Given the description of an element on the screen output the (x, y) to click on. 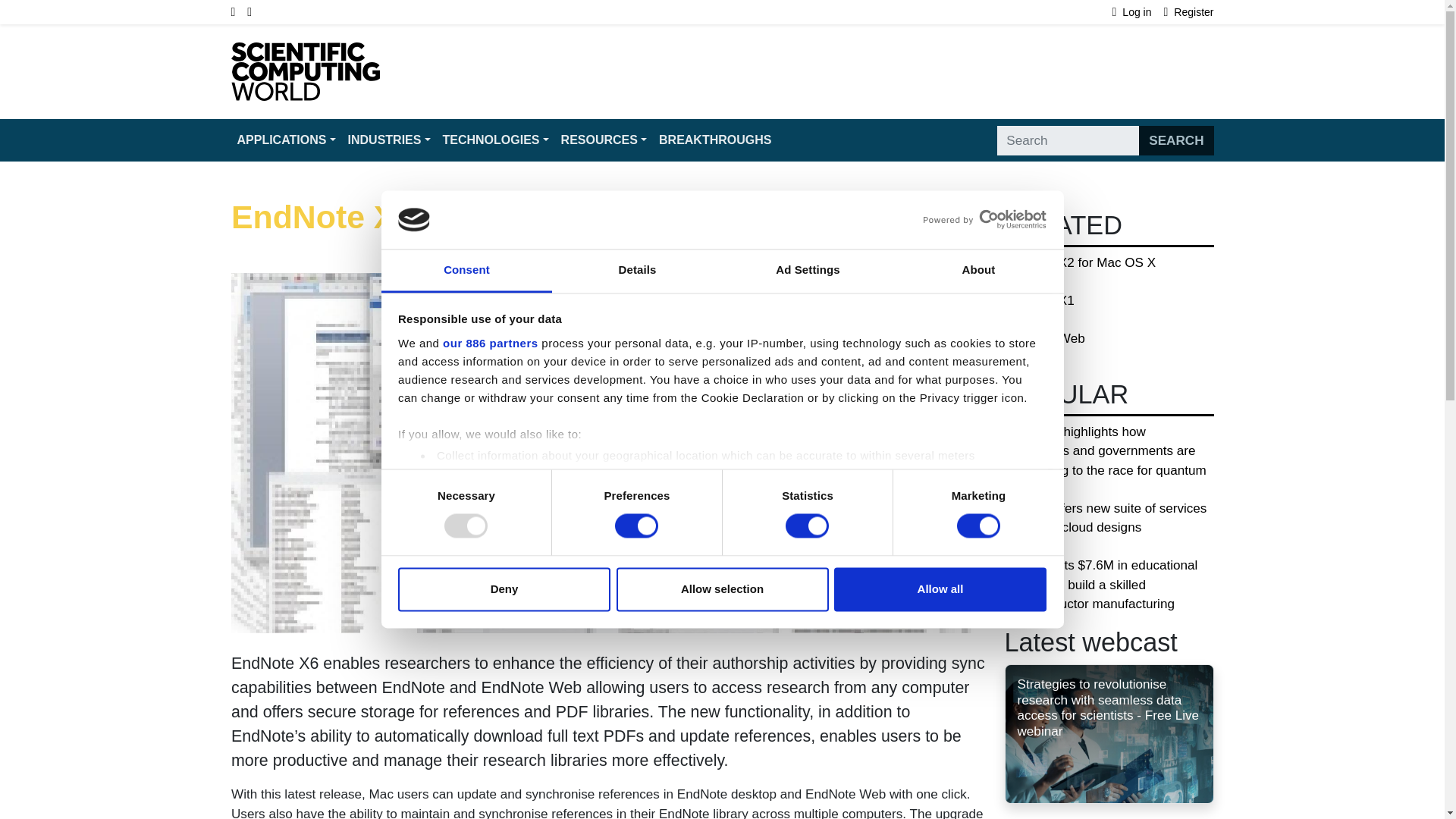
details section (927, 494)
Details (636, 270)
Consent (465, 270)
About (978, 270)
our 886 partners (490, 342)
Ad Settings (807, 270)
